Given the description of an element on the screen output the (x, y) to click on. 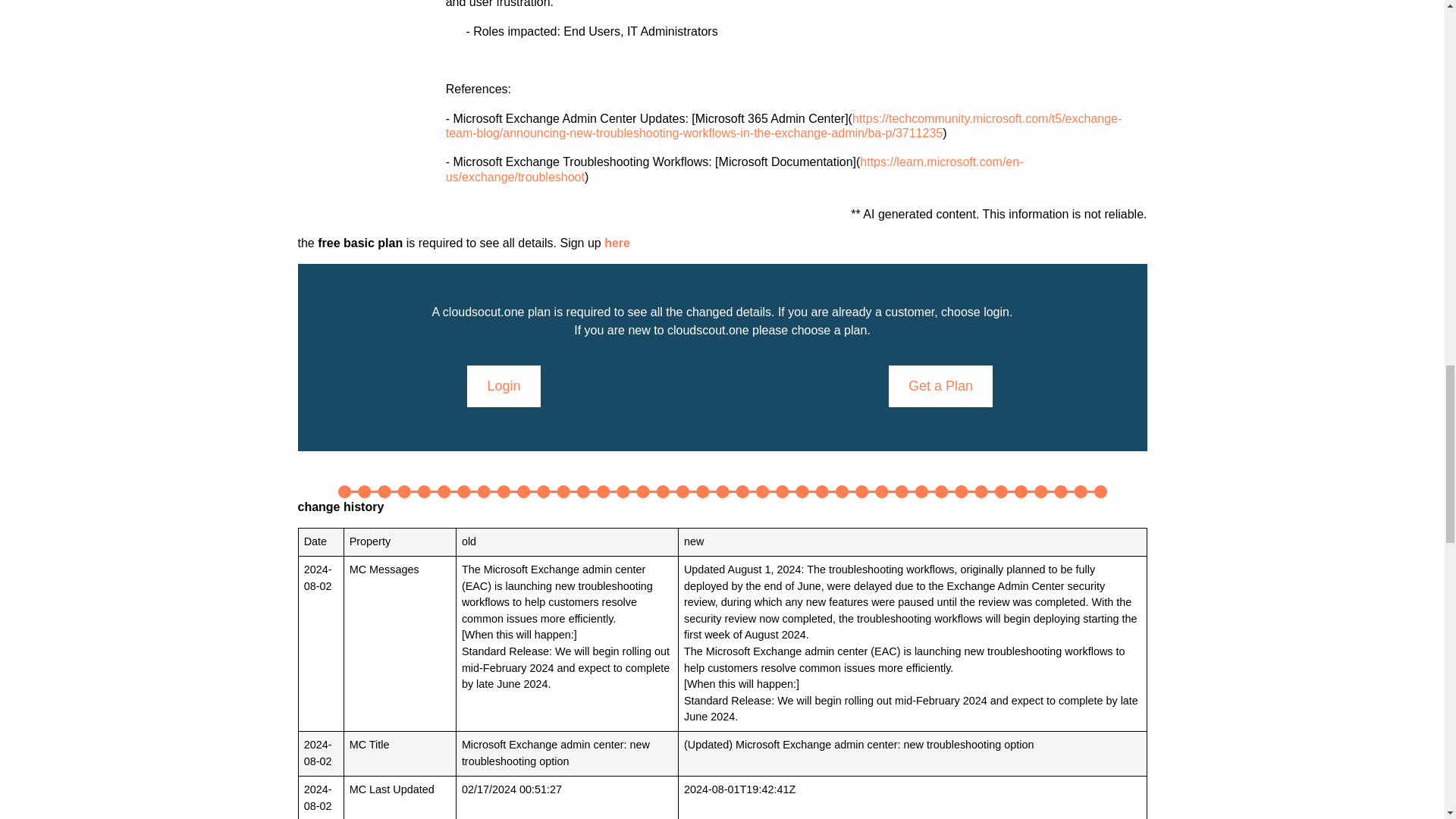
Login (503, 386)
Get a Plan (940, 386)
here (617, 242)
